Given the description of an element on the screen output the (x, y) to click on. 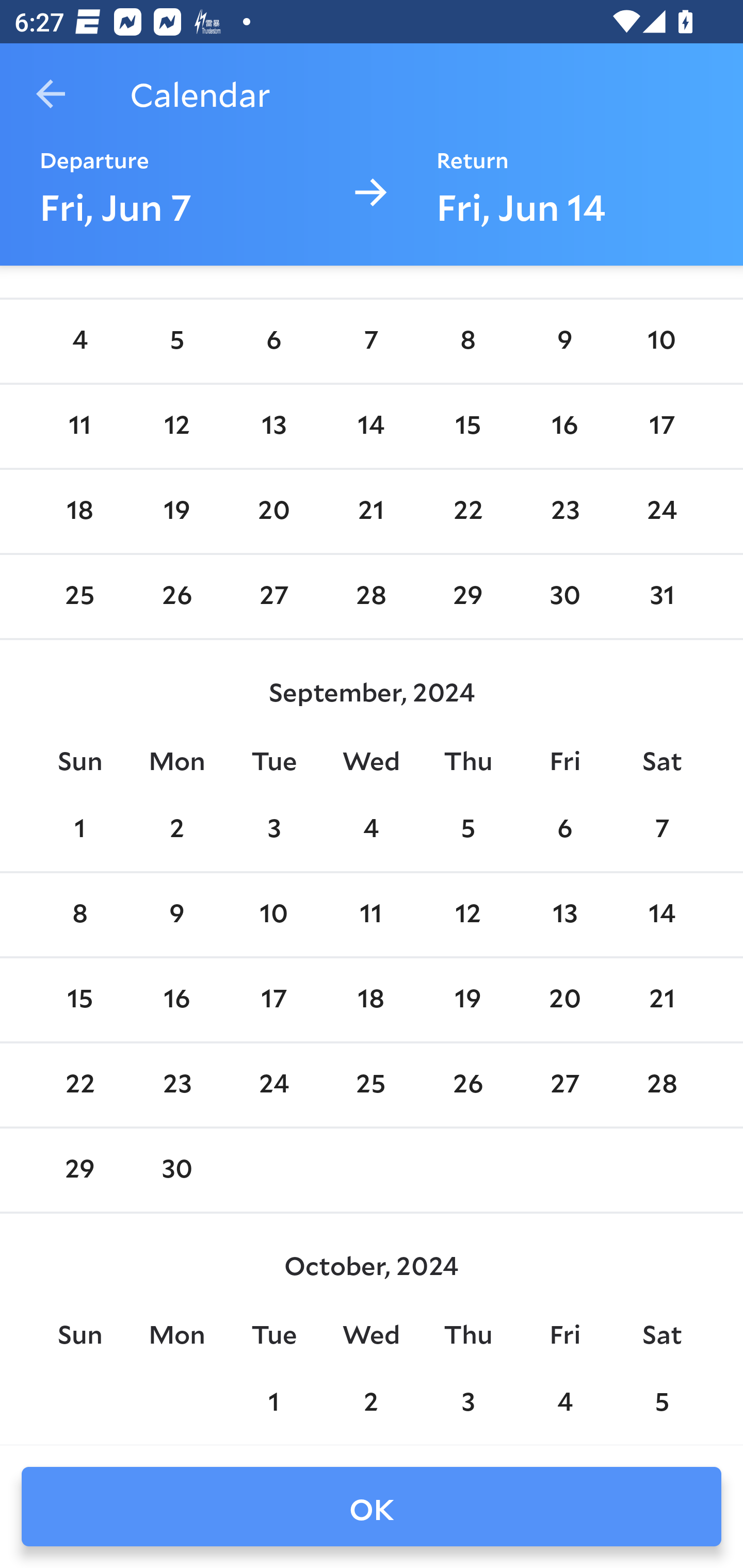
Navigate up (50, 93)
4 (79, 341)
5 (177, 341)
6 (273, 341)
7 (371, 341)
8 (467, 341)
9 (565, 341)
10 (661, 341)
11 (79, 426)
12 (177, 426)
13 (273, 426)
14 (371, 426)
15 (467, 426)
16 (565, 426)
17 (661, 426)
18 (79, 511)
19 (177, 511)
20 (273, 511)
21 (371, 511)
22 (467, 511)
23 (565, 511)
24 (661, 511)
25 (79, 597)
26 (177, 597)
27 (273, 597)
28 (371, 597)
29 (467, 597)
30 (565, 597)
31 (661, 597)
1 (79, 829)
2 (177, 829)
3 (273, 829)
4 (371, 829)
5 (467, 829)
6 (565, 829)
7 (661, 829)
8 (79, 915)
9 (177, 915)
10 (273, 915)
11 (371, 915)
12 (467, 915)
13 (565, 915)
14 (661, 915)
15 (79, 1000)
16 (177, 1000)
17 (273, 1000)
18 (371, 1000)
19 (467, 1000)
20 (565, 1000)
21 (661, 1000)
